Given the description of an element on the screen output the (x, y) to click on. 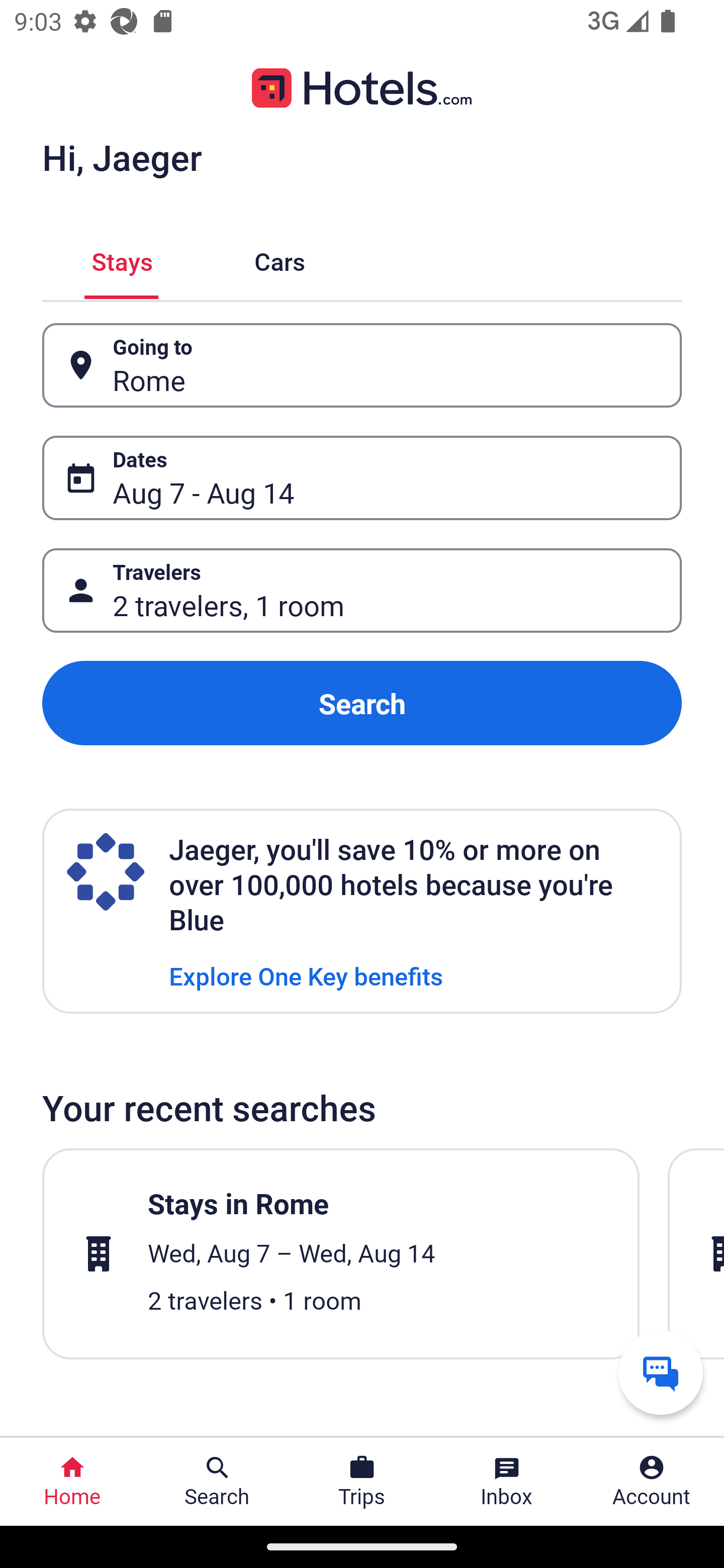
Hi, Jaeger (121, 156)
Cars (279, 259)
Going to Button Rome (361, 365)
Dates Button Aug 7 - Aug 14 (361, 477)
Travelers Button 2 travelers, 1 room (361, 590)
Search (361, 702)
Get help from a virtual agent (660, 1371)
Search Search Button (216, 1481)
Trips Trips Button (361, 1481)
Inbox Inbox Button (506, 1481)
Account Profile. Button (651, 1481)
